Given the description of an element on the screen output the (x, y) to click on. 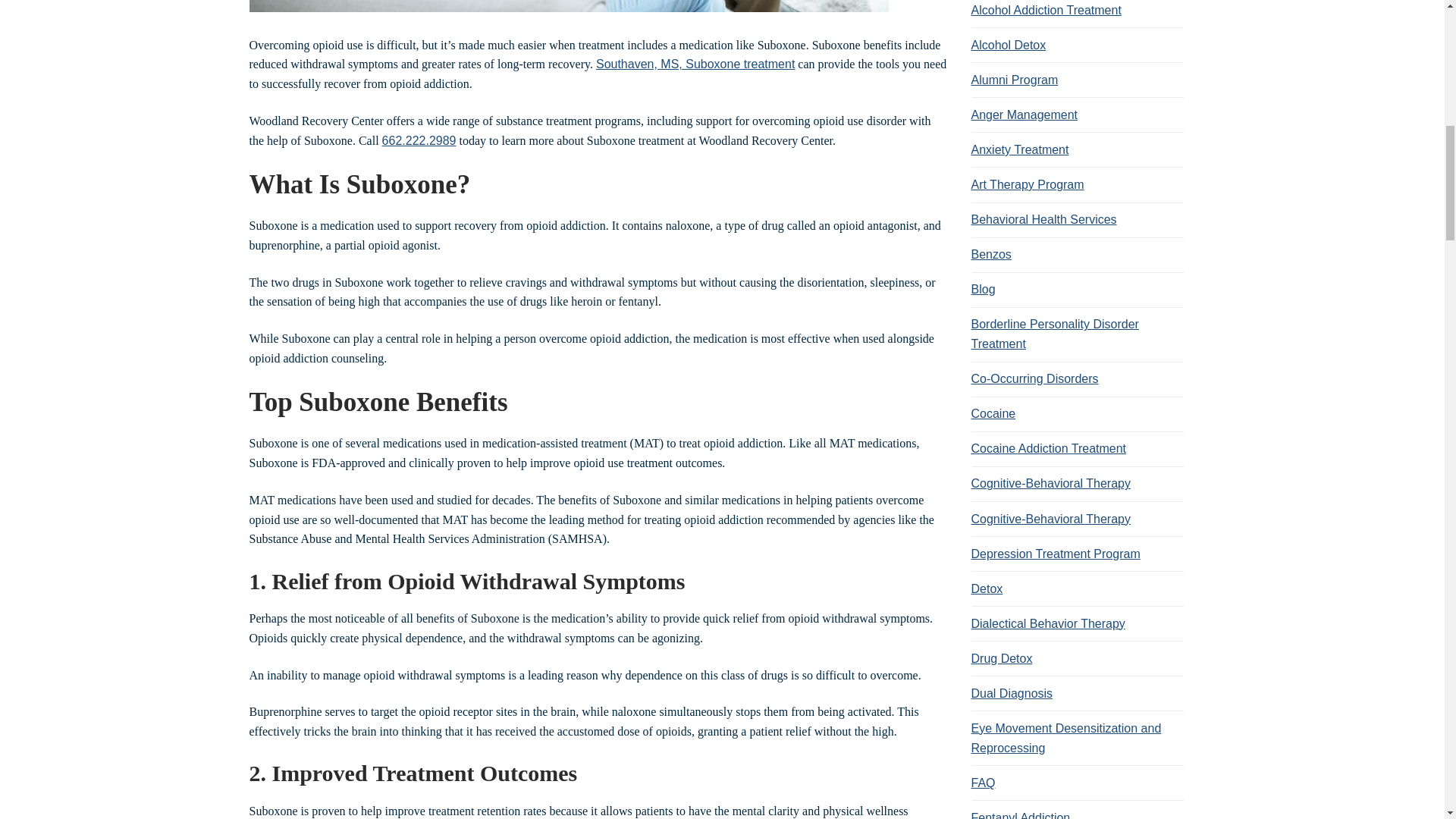
Benefits of Suboxone (568, 6)
